Given the description of an element on the screen output the (x, y) to click on. 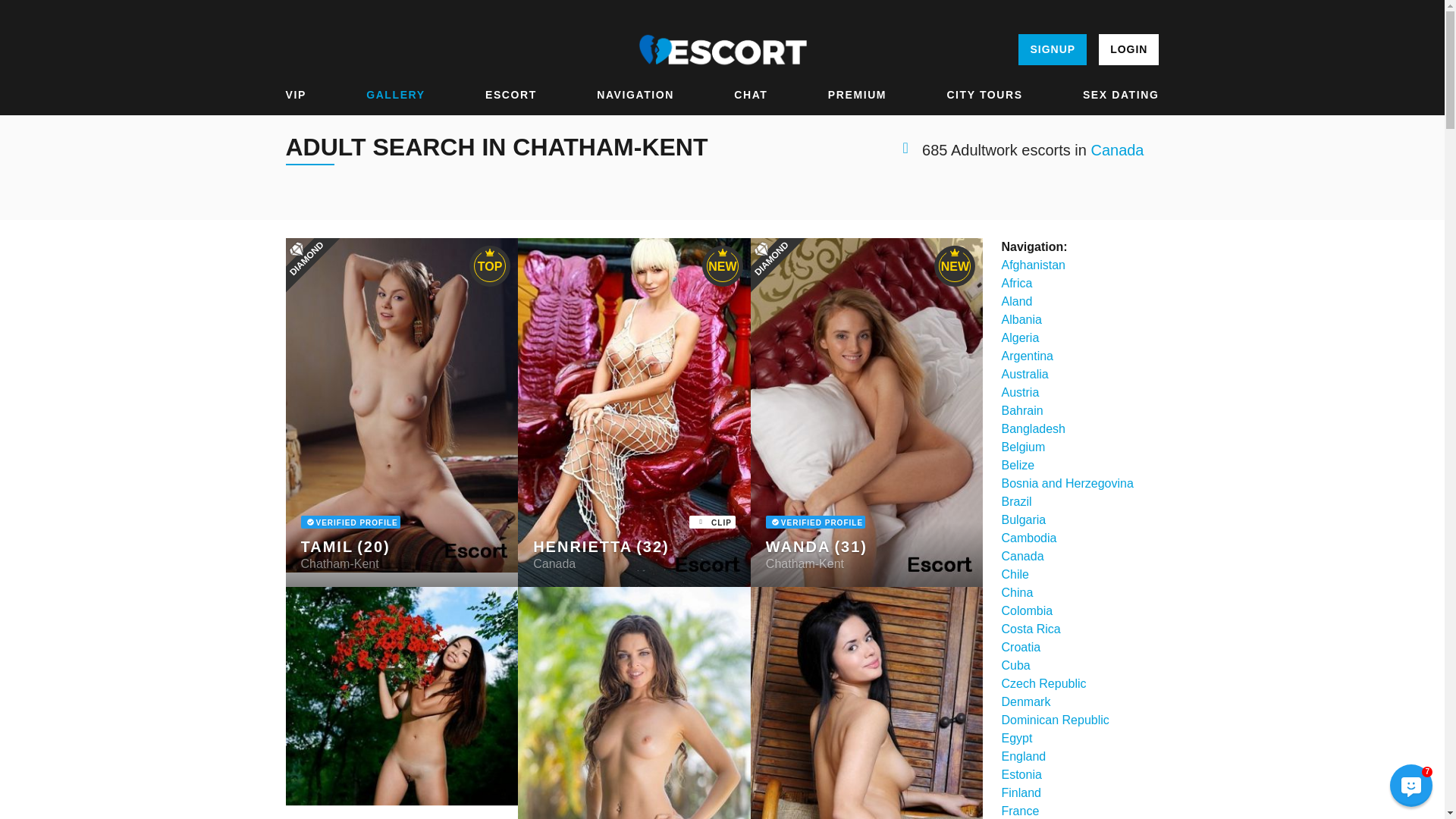
PREMIUM (857, 94)
GALLERY (395, 94)
CHAT (750, 94)
LOGIN (1128, 49)
SEX DATING (1120, 94)
Canada (1116, 149)
SIGNUP (1051, 49)
ESCORT (510, 94)
VIP (295, 94)
CITY TOURS (984, 94)
NAVIGATION (635, 94)
